Given the description of an element on the screen output the (x, y) to click on. 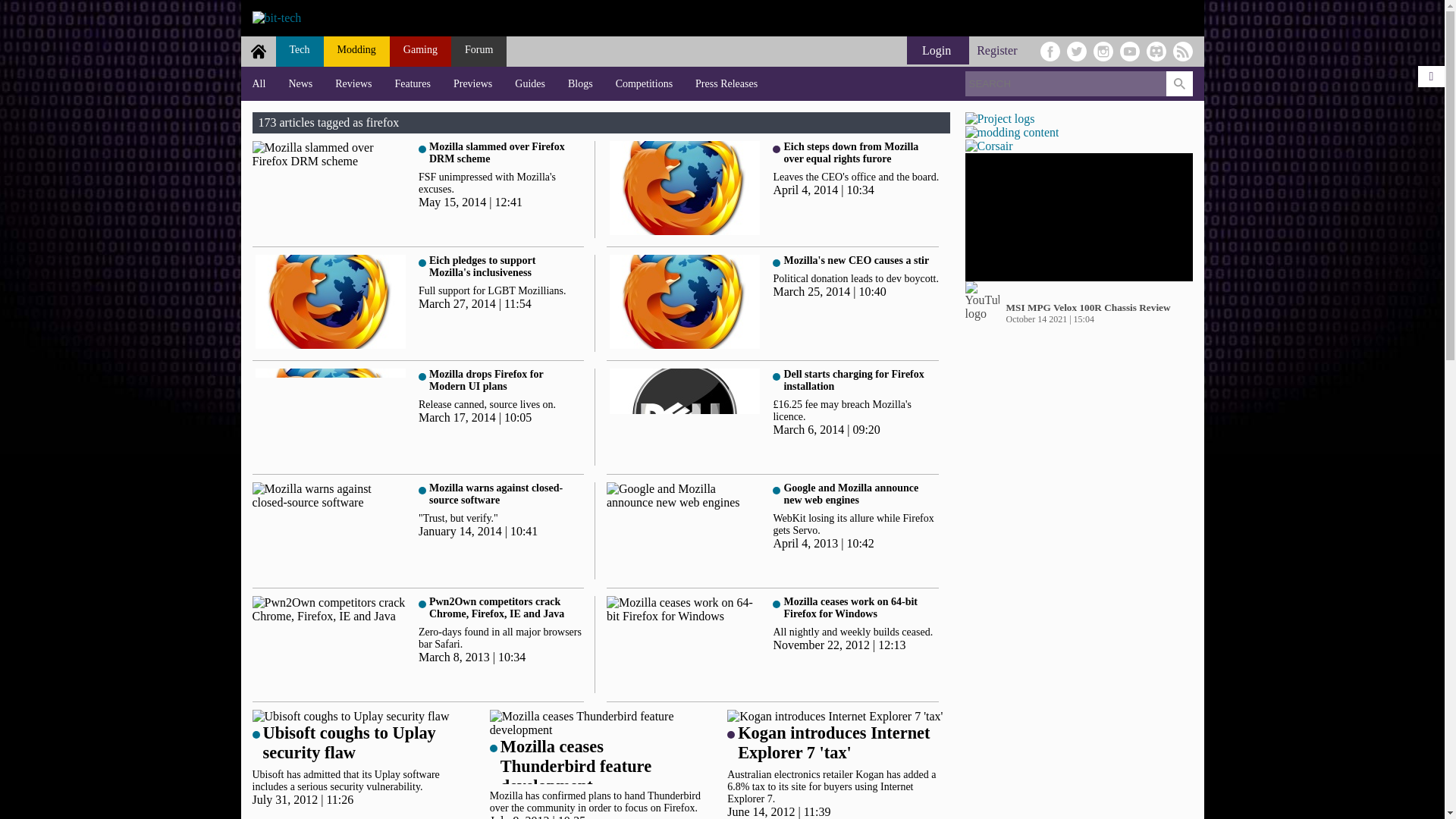
Login (938, 50)
Blogs (580, 83)
Press Releases (726, 83)
Reviews (352, 83)
Features (413, 83)
All (259, 83)
News (299, 83)
Competitions (644, 83)
Register (997, 50)
Guides (529, 83)
Previews (472, 83)
